Given the description of an element on the screen output the (x, y) to click on. 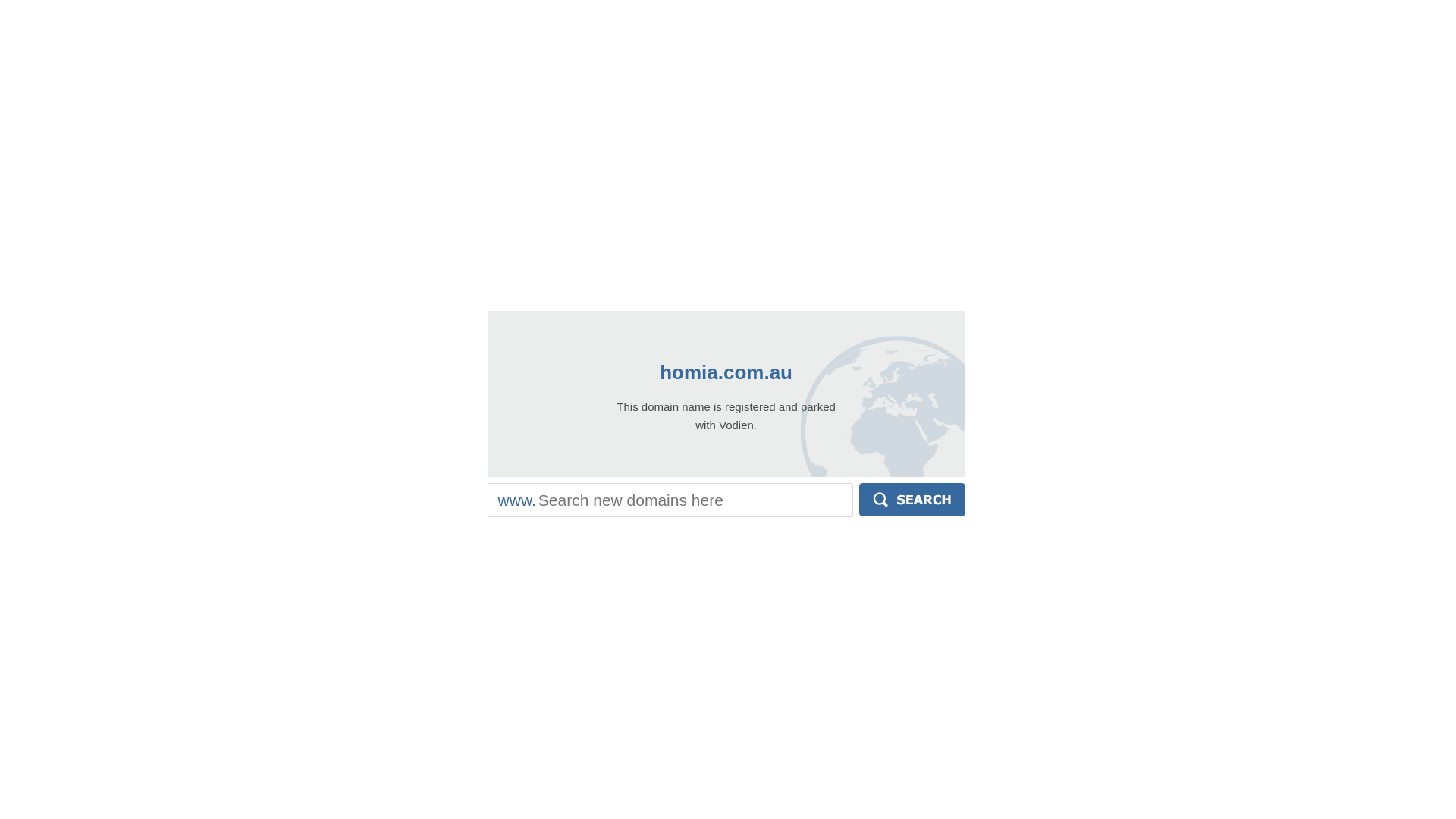
Search Element type: text (912, 499)
